Given the description of an element on the screen output the (x, y) to click on. 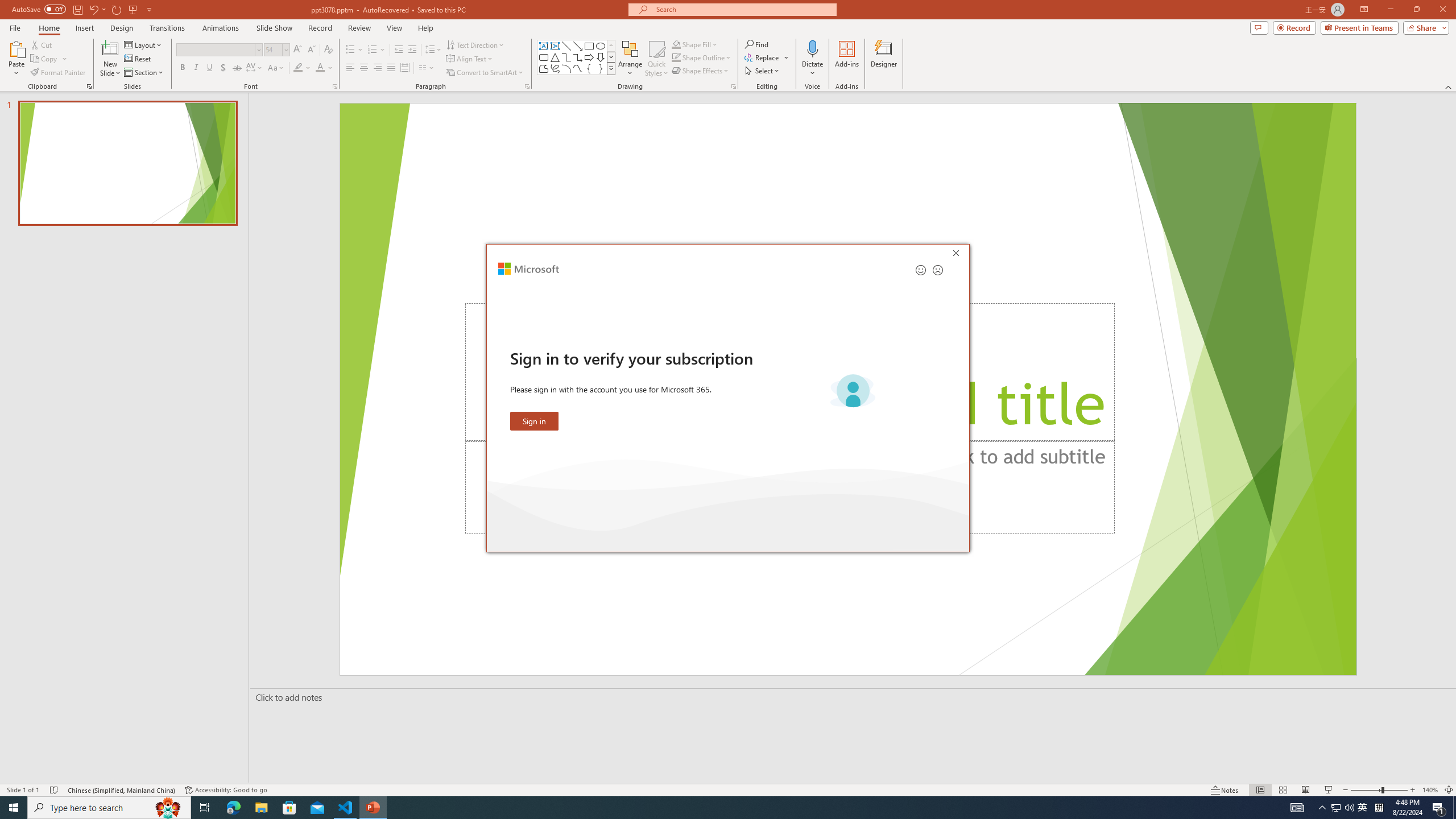
Sign in (534, 420)
